Given the description of an element on the screen output the (x, y) to click on. 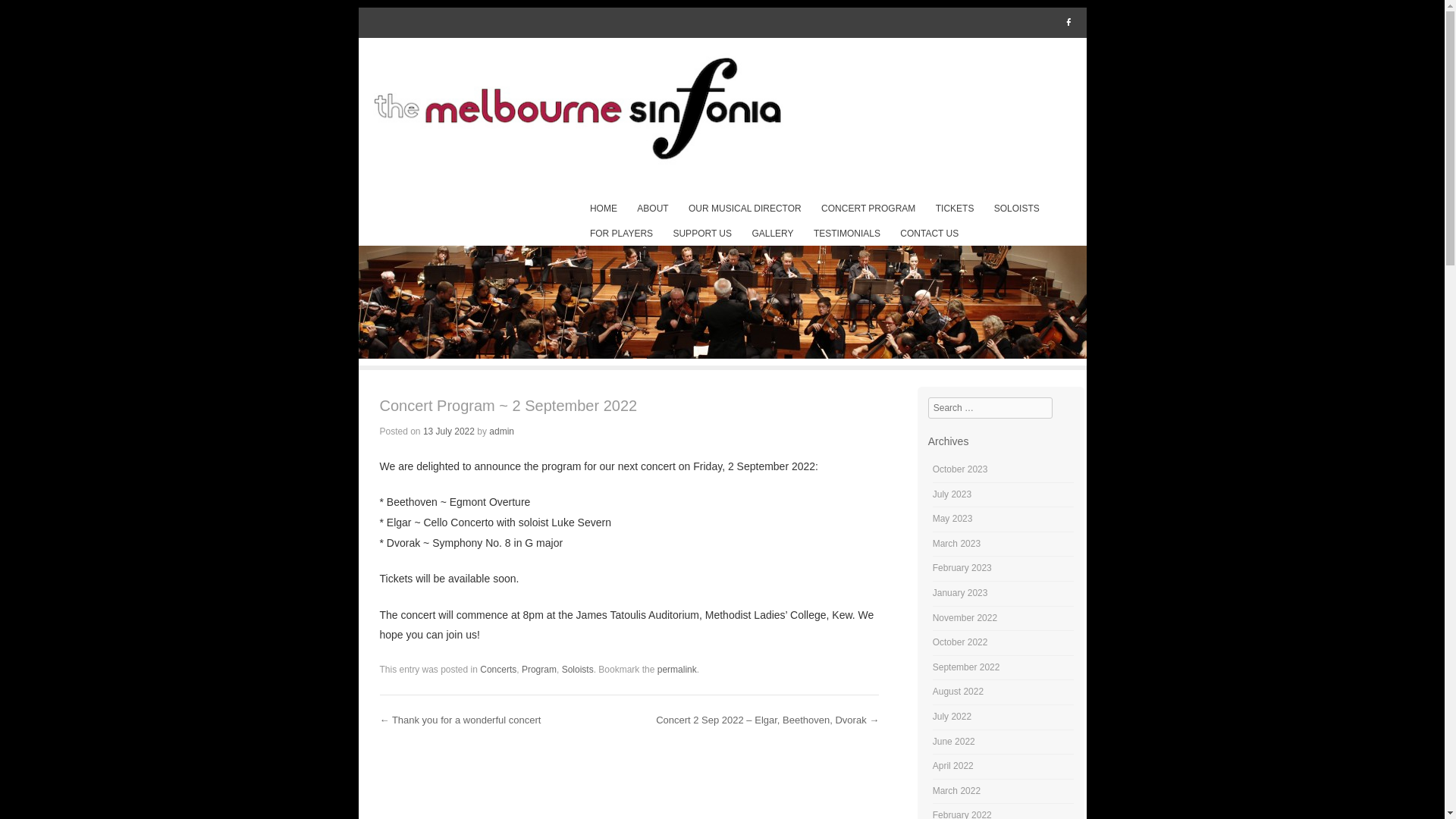
SKIP TO CONTENT Element type: text (630, 209)
July 2022 Element type: text (951, 716)
August 2022 Element type: text (957, 691)
Concerts Element type: text (498, 669)
SOLOISTS Element type: text (1016, 209)
Soloists Element type: text (577, 669)
permalink Element type: text (676, 669)
March 2023 Element type: text (956, 543)
Search Element type: text (33, 17)
September 2022 Element type: text (966, 667)
HOME Element type: text (603, 209)
admin Element type: text (501, 431)
ABOUT Element type: text (653, 209)
GALLERY Element type: text (772, 233)
October 2023 Element type: text (960, 469)
June 2022 Element type: text (953, 741)
melbournesinfonia.org.au Element type: hover (722, 110)
Program Element type: text (538, 669)
March 2022 Element type: text (956, 790)
July 2023 Element type: text (951, 494)
CONTACT US Element type: text (929, 233)
TICKETS Element type: text (954, 209)
February 2023 Element type: text (961, 567)
May 2023 Element type: text (952, 518)
October 2022 Element type: text (960, 642)
TESTIMONIALS Element type: text (846, 233)
melbournesinfonia.org.au Element type: hover (721, 354)
OUR MUSICAL DIRECTOR Element type: text (744, 209)
CONCERT PROGRAM Element type: text (868, 209)
November 2022 Element type: text (964, 617)
SUPPORT US Element type: text (702, 233)
13 July 2022 Element type: text (448, 431)
April 2022 Element type: text (952, 765)
January 2023 Element type: text (960, 592)
FOR PLAYERS Element type: text (620, 233)
